Given the description of an element on the screen output the (x, y) to click on. 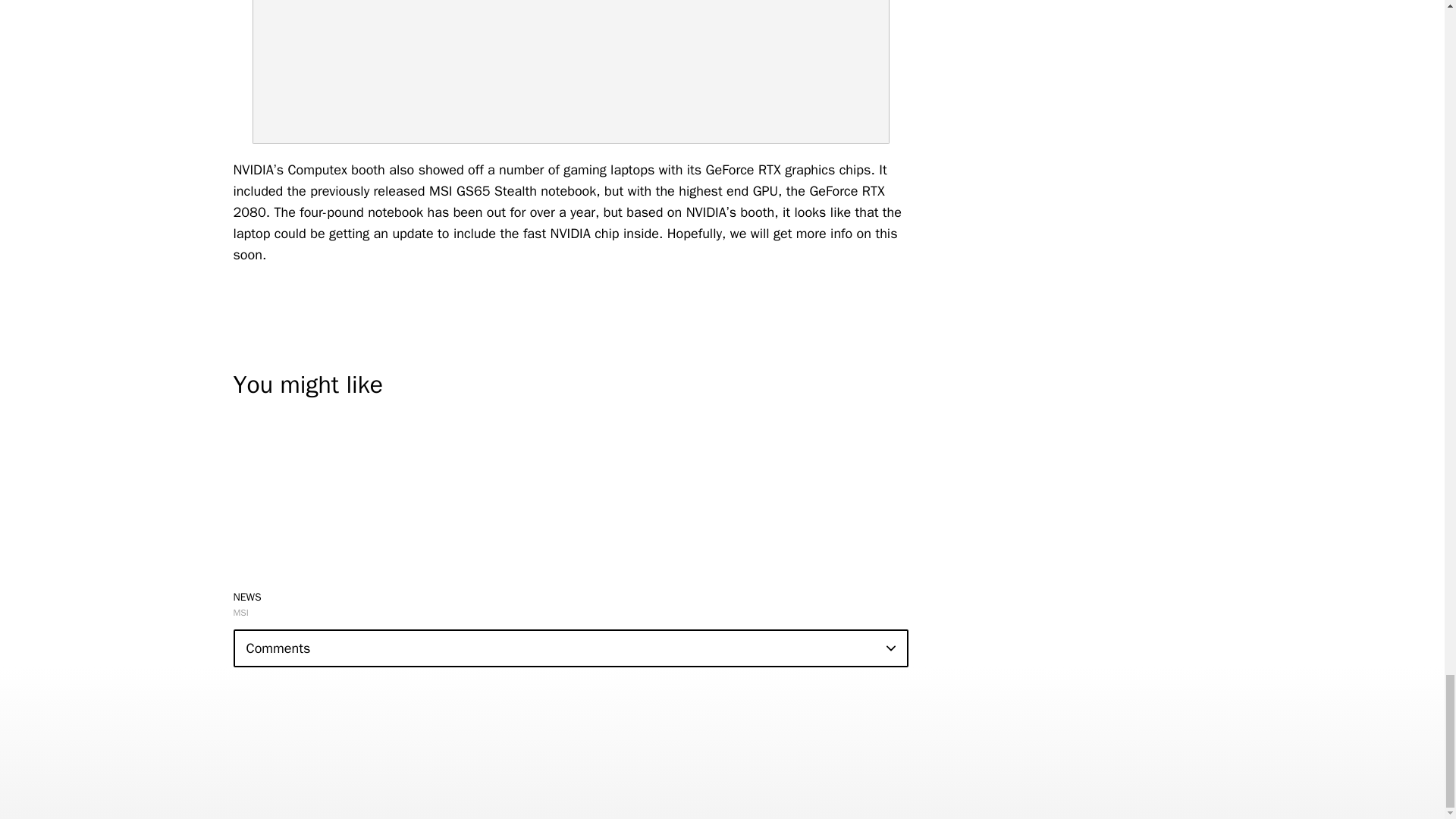
NEWS (247, 596)
Comments (570, 648)
MSI (240, 612)
MSI GS65 RTX 2080 from angle (569, 72)
